Given the description of an element on the screen output the (x, y) to click on. 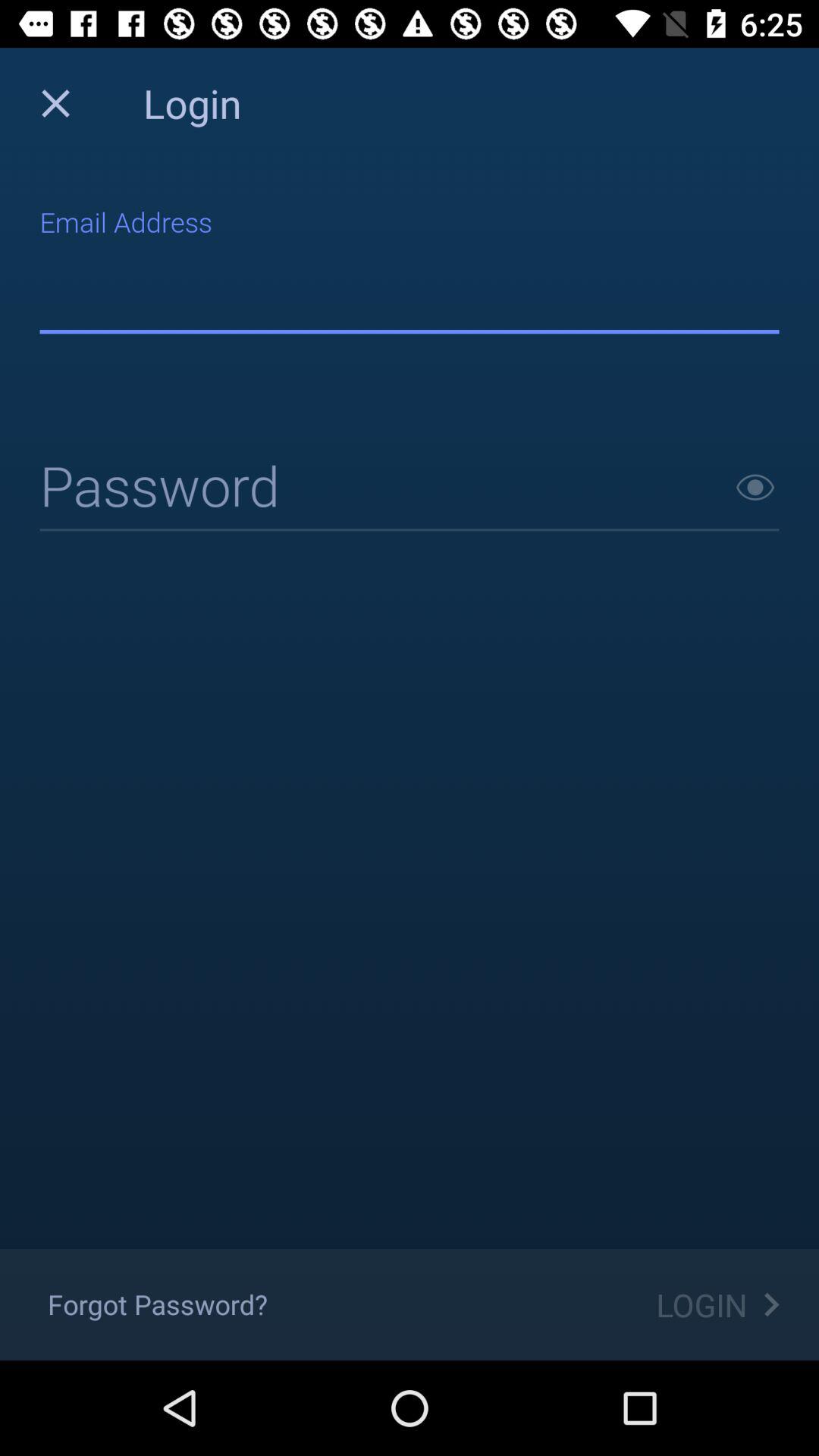
login button (409, 488)
